Given the description of an element on the screen output the (x, y) to click on. 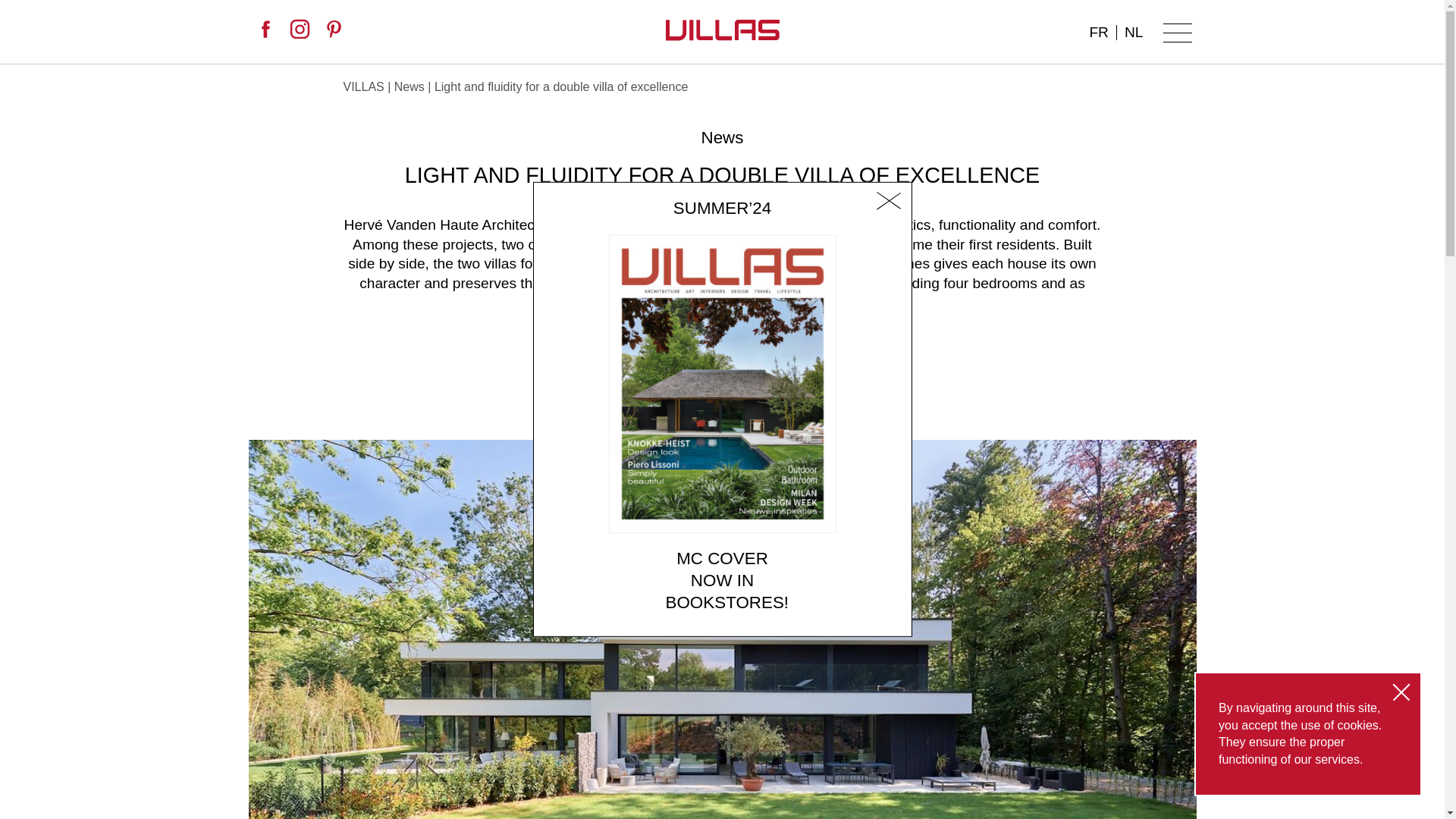
Menu button (1177, 32)
News (721, 137)
Close (888, 201)
NL (1133, 32)
VillasDecoration (336, 31)
VILLAS (363, 86)
News (409, 86)
FR (1098, 32)
Close (1401, 691)
